Given the description of an element on the screen output the (x, y) to click on. 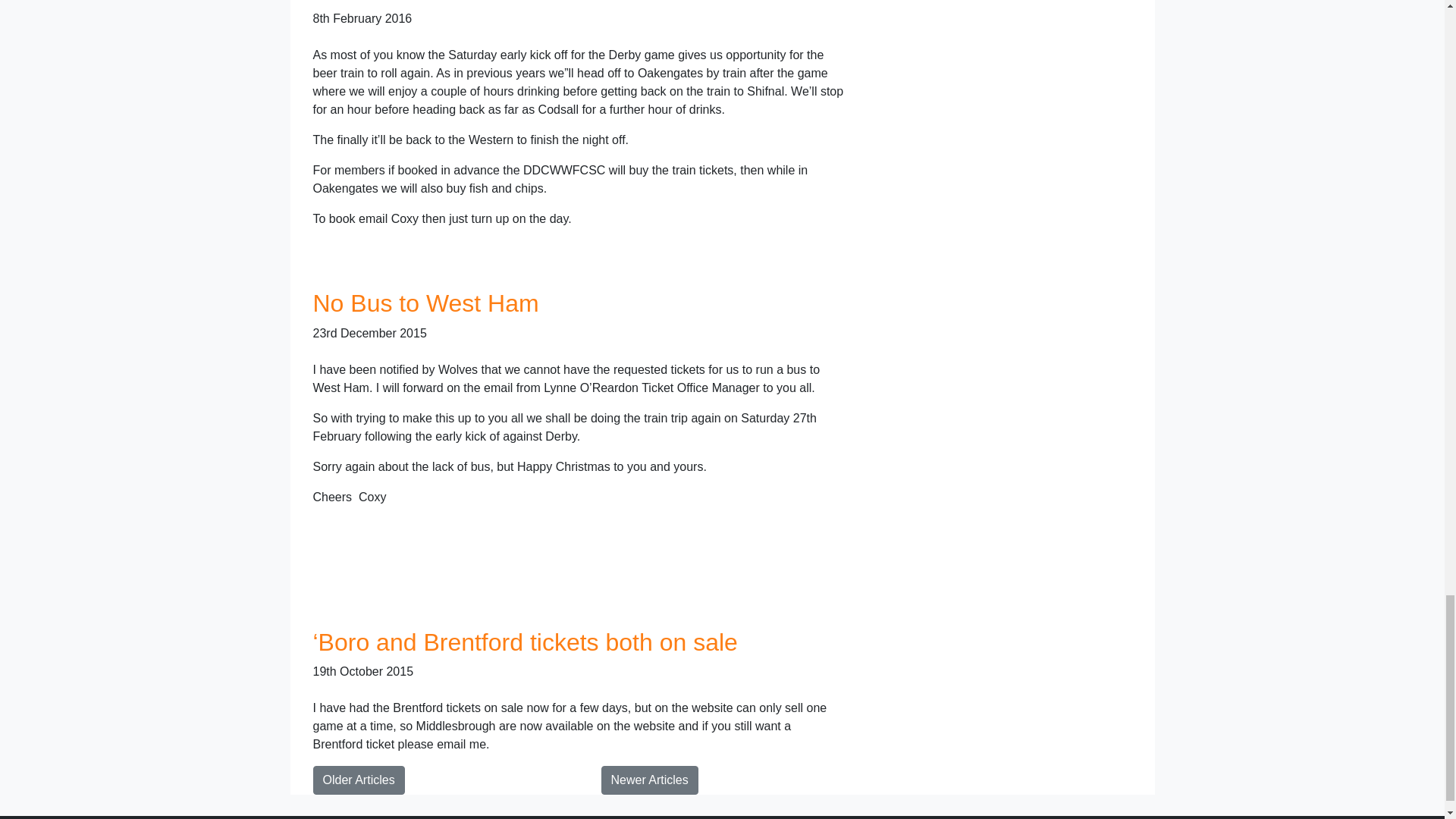
No Bus to West Ham (425, 302)
Older Articles (358, 779)
Newer Articles (648, 779)
